Given the description of an element on the screen output the (x, y) to click on. 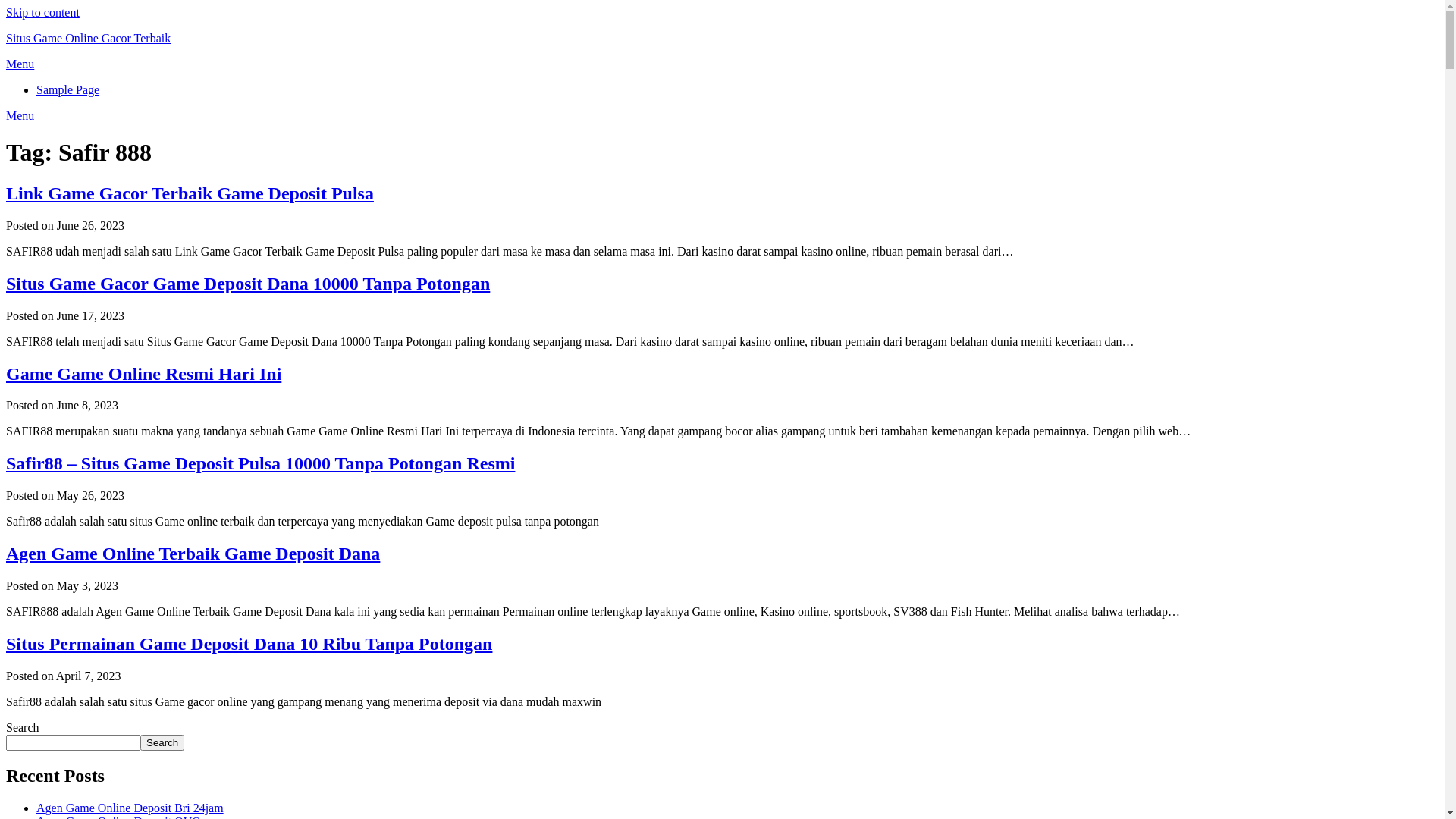
Search Element type: text (162, 742)
Situs Game Online Gacor Terbaik Element type: text (88, 37)
Game Game Online Resmi Hari Ini Element type: text (143, 373)
Menu Element type: text (20, 63)
Situs Game Gacor Game Deposit Dana 10000 Tanpa Potongan Element type: text (247, 283)
Agen Game Online Deposit Bri 24jam Element type: text (129, 807)
Link Game Gacor Terbaik Game Deposit Pulsa Element type: text (189, 193)
Agen Game Online Terbaik Game Deposit Dana Element type: text (192, 553)
Sample Page Element type: text (67, 89)
Situs Permainan Game Deposit Dana 10 Ribu Tanpa Potongan Element type: text (249, 643)
Menu Element type: text (20, 115)
Skip to content Element type: text (42, 12)
